Given the description of an element on the screen output the (x, y) to click on. 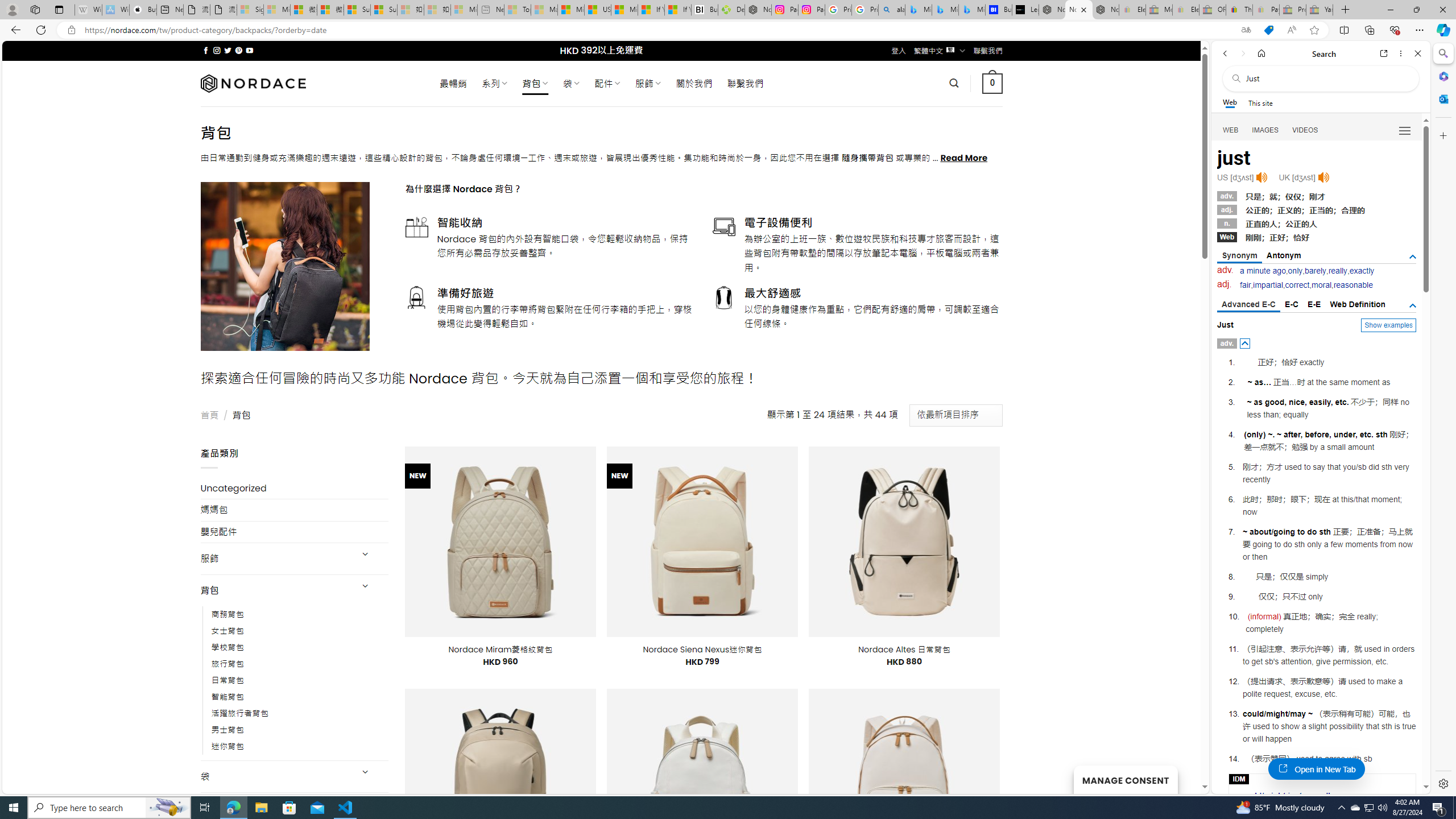
Microsoft Services Agreement - Sleeping (277, 9)
Microsoft account | Account Checkup - Sleeping (463, 9)
AutomationID: tgdef (1412, 305)
